Given the description of an element on the screen output the (x, y) to click on. 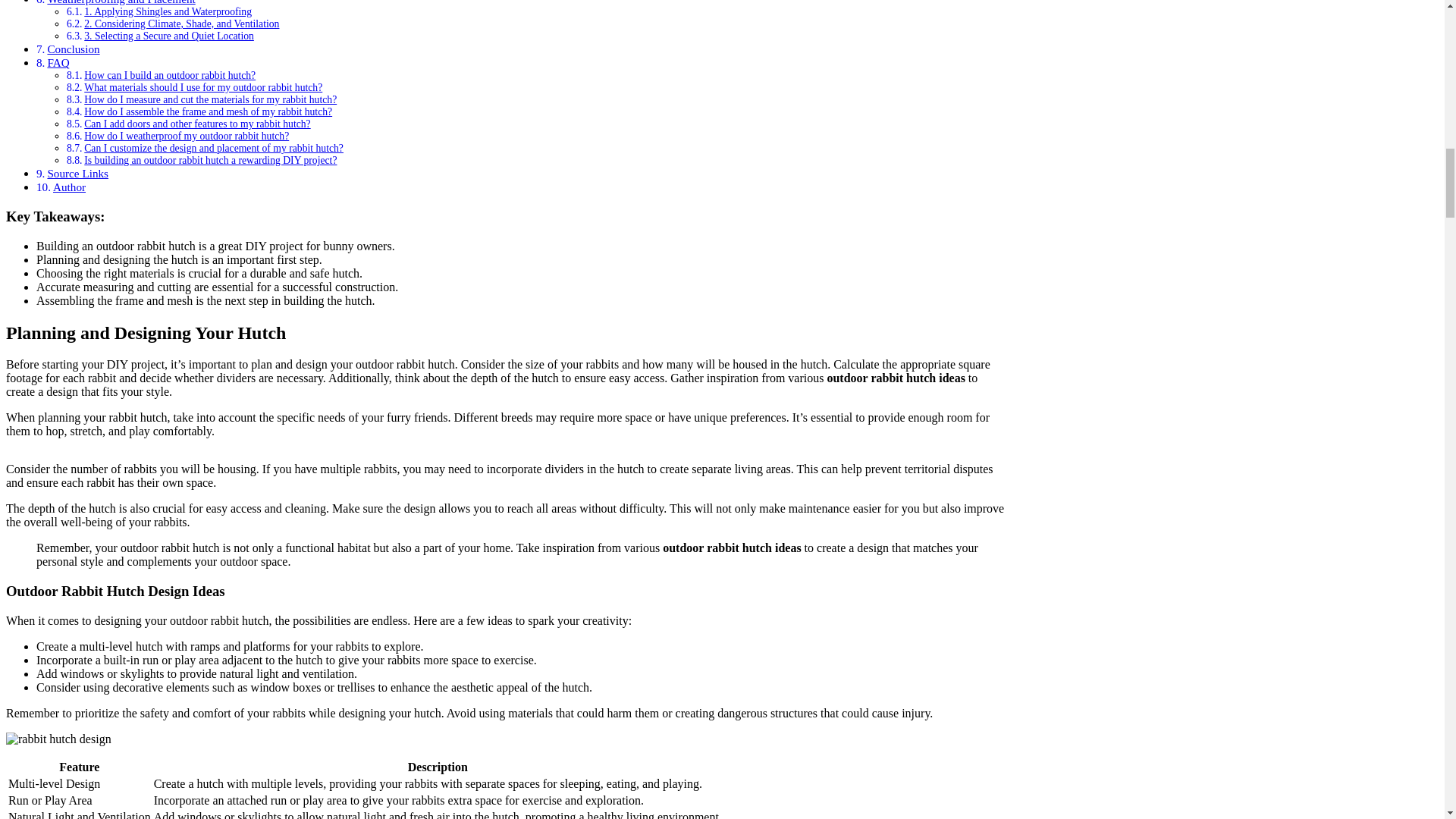
3. Selecting a Secure and Quiet Location (168, 35)
2. Considering Climate, Shade, and Ventilation (181, 23)
1. Applying Shingles and Waterproofing (167, 11)
Weatherproofing and Placement (120, 2)
